Given the description of an element on the screen output the (x, y) to click on. 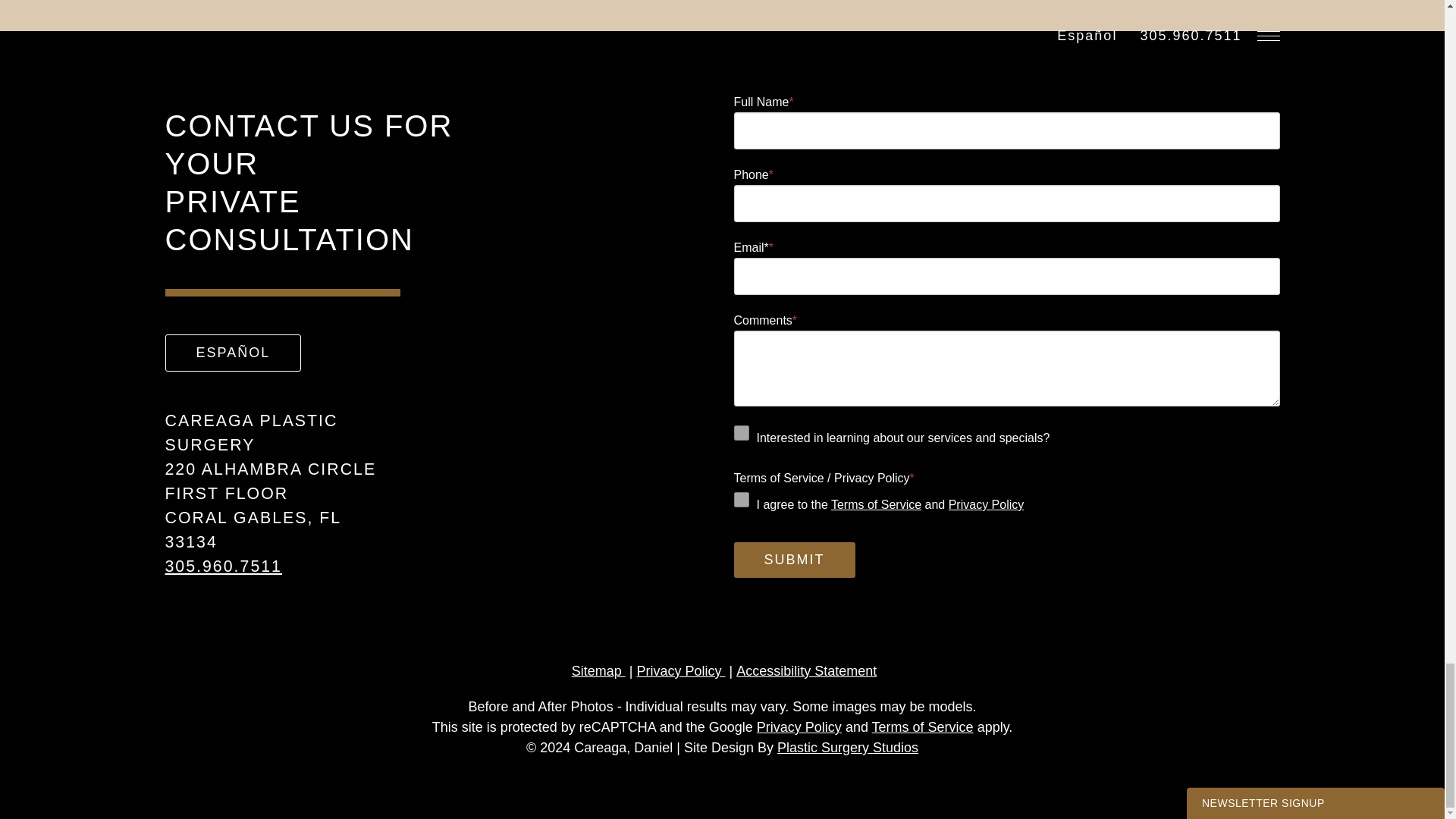
Follow Us on Facebook (191, 586)
Find Us on TikTok (248, 586)
Interested in learning about our services and specials? (741, 432)
Follow Us on Instagram (172, 586)
Terms of Service (876, 504)
Privacy Policy (987, 504)
Find Us on Linkedin (229, 586)
Follow Us on Twitter (210, 586)
